Given the description of an element on the screen output the (x, y) to click on. 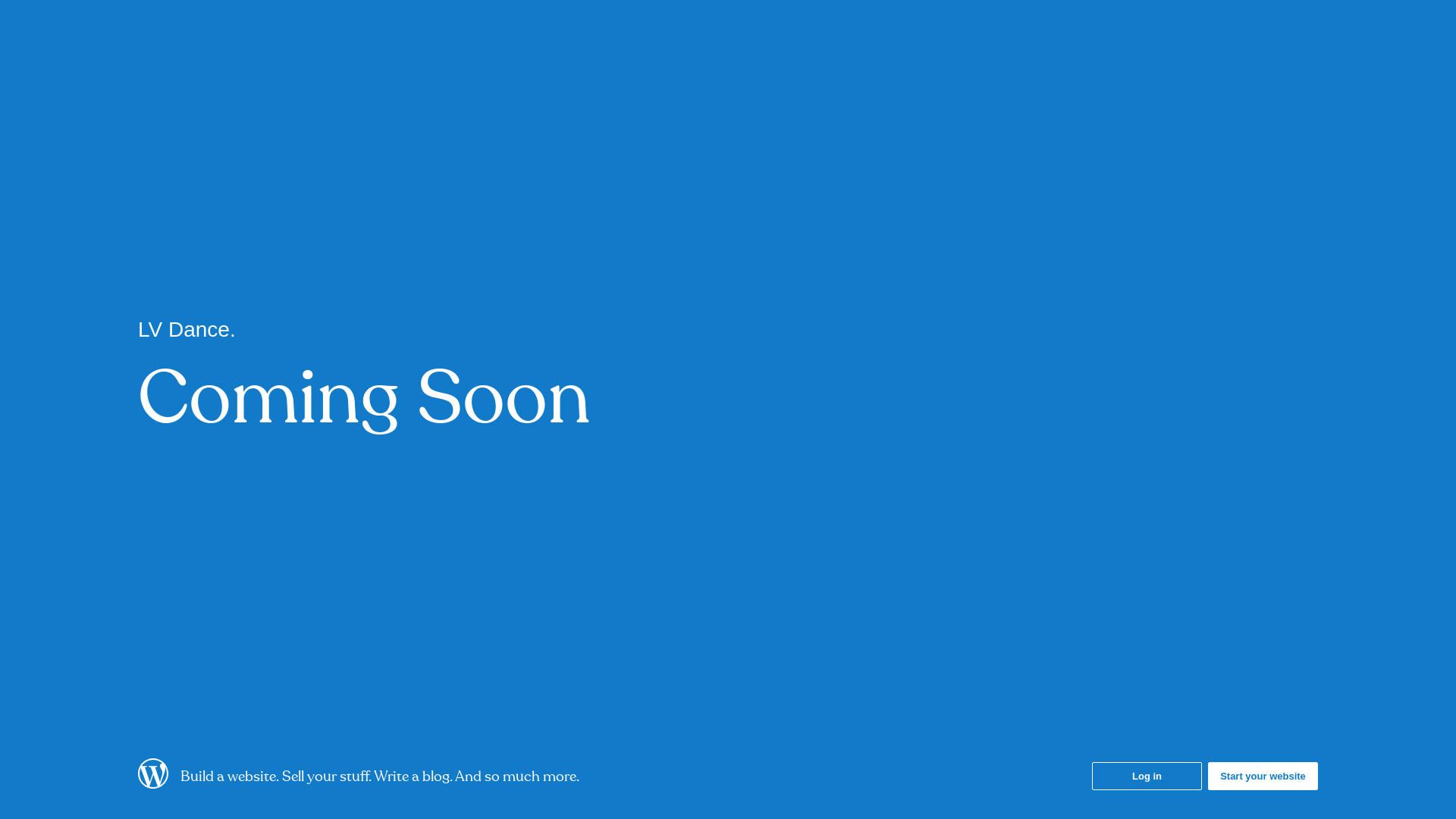
Start your website Element type: text (1262, 776)
WordPress.com Element type: text (153, 783)
Log in Element type: text (1146, 776)
